Given the description of an element on the screen output the (x, y) to click on. 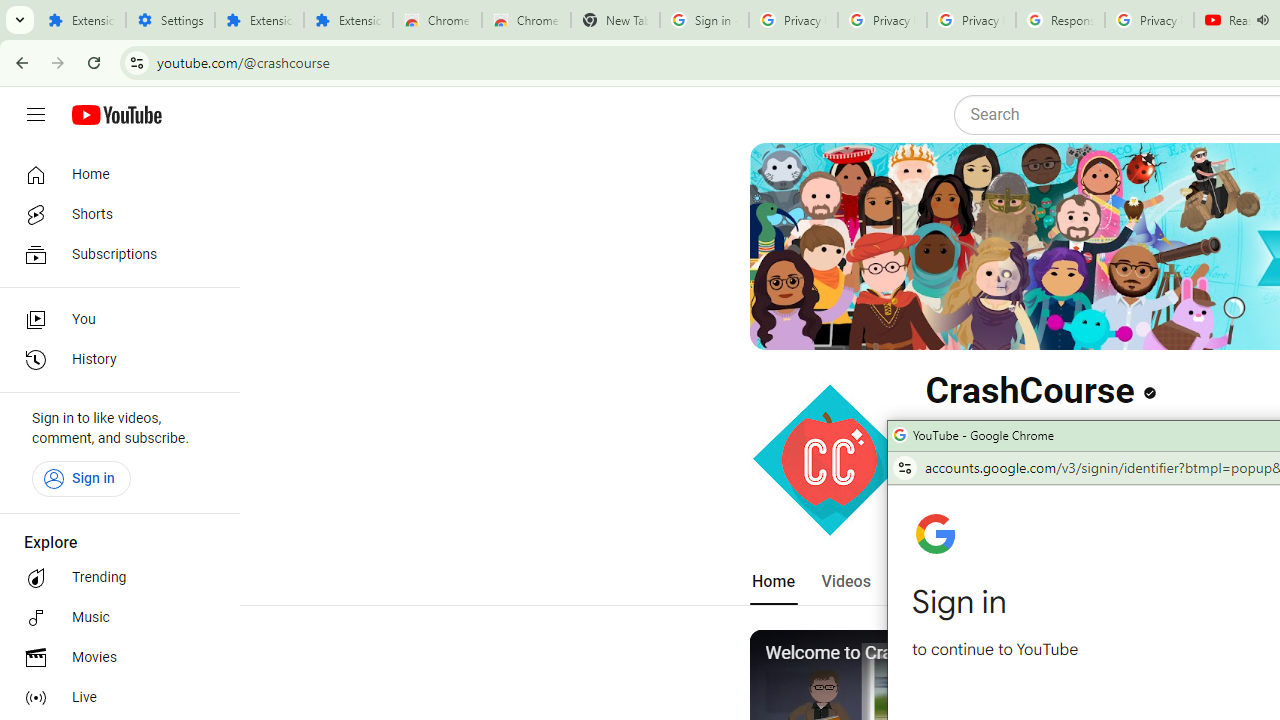
Sign in - Google Accounts (704, 20)
Chrome Web Store - Themes (526, 20)
Home (772, 581)
Extensions (259, 20)
Home (113, 174)
Chrome Web Store (437, 20)
